Given the description of an element on the screen output the (x, y) to click on. 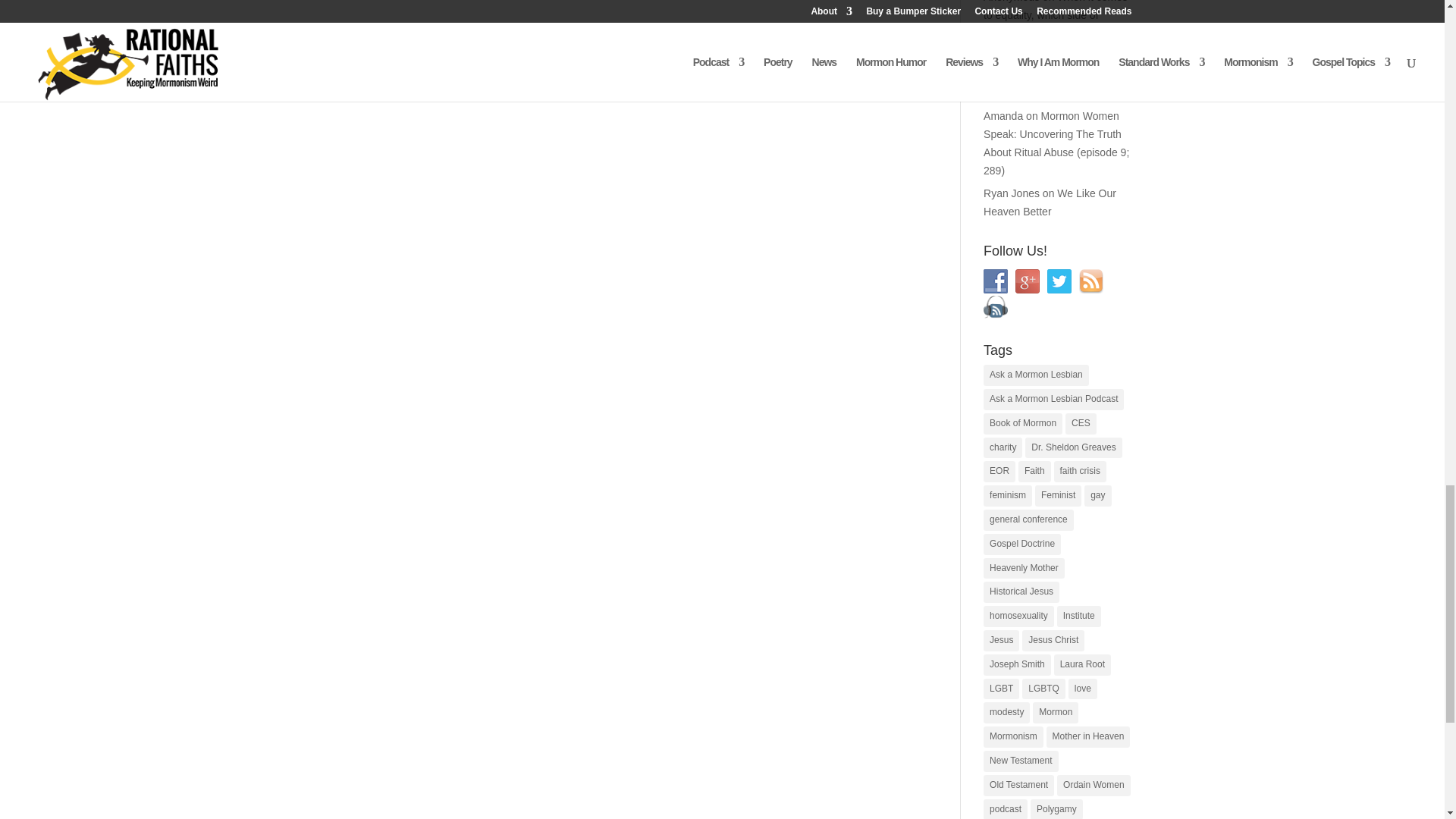
Follow Us on Twitter (1058, 281)
Follow Us on RSS (1090, 281)
Follow Us on iTunes Podcast (995, 306)
Follow Us on Facebook (995, 281)
